Given the description of an element on the screen output the (x, y) to click on. 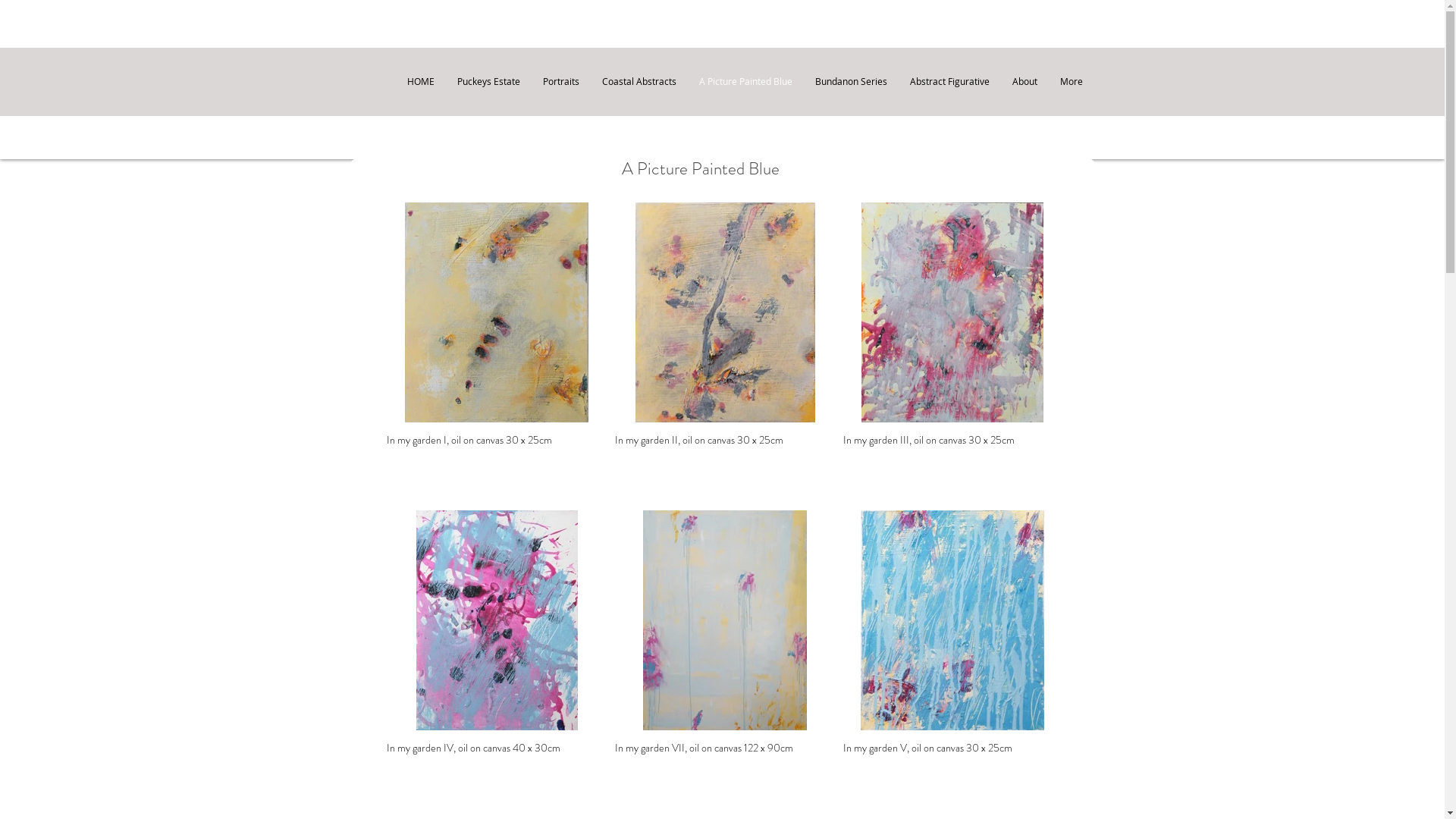
Puckeys Estate Element type: text (488, 81)
Bundanon Series Element type: text (850, 81)
Portraits Element type: text (559, 81)
Coastal Abstracts Element type: text (638, 81)
Abstract Figurative Element type: text (948, 81)
HOME Element type: text (420, 81)
A Picture Painted Blue Element type: text (745, 81)
About Element type: text (1024, 81)
